Given the description of an element on the screen output the (x, y) to click on. 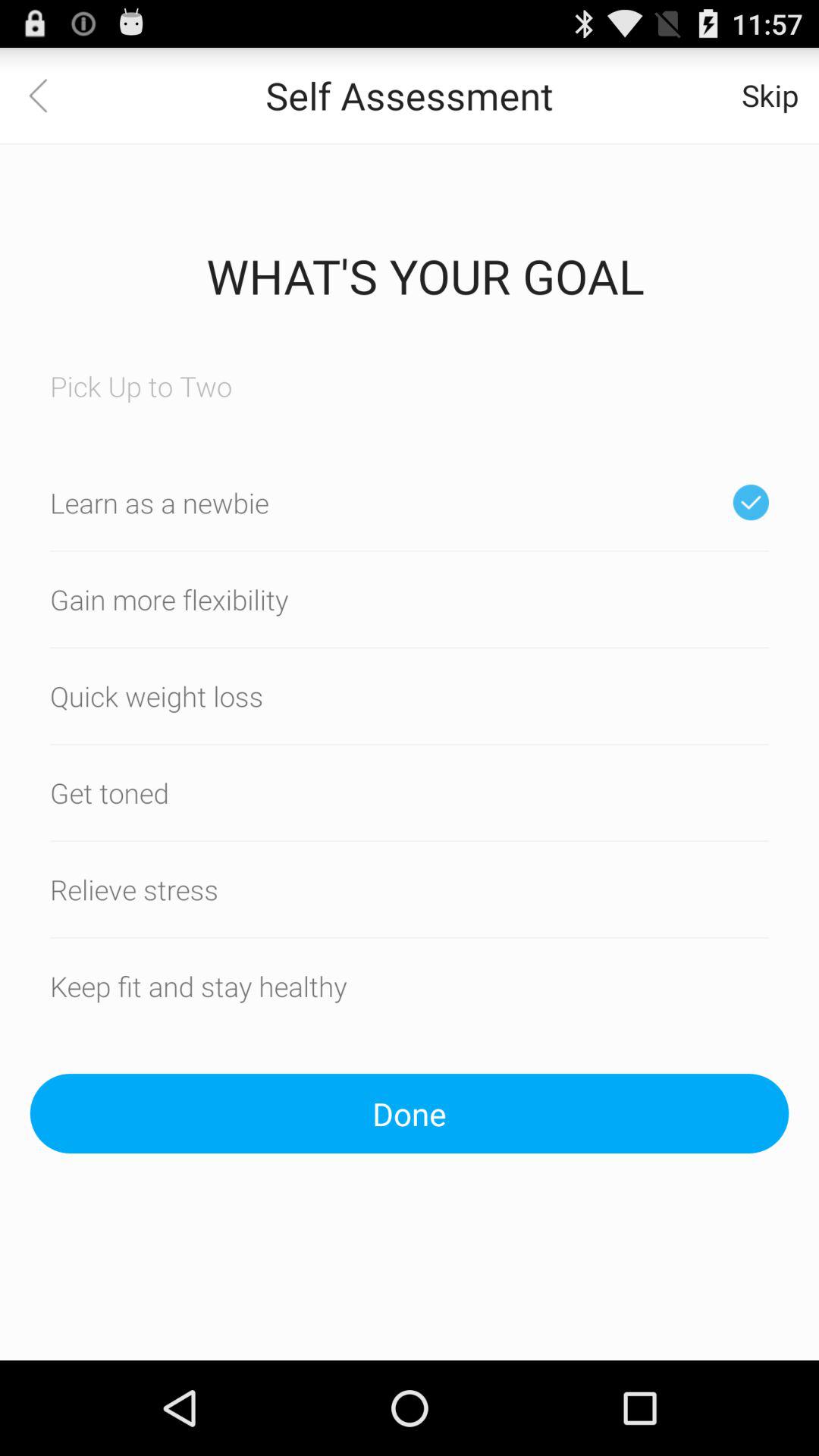
choose the app to the right of the self assessment app (770, 95)
